Given the description of an element on the screen output the (x, y) to click on. 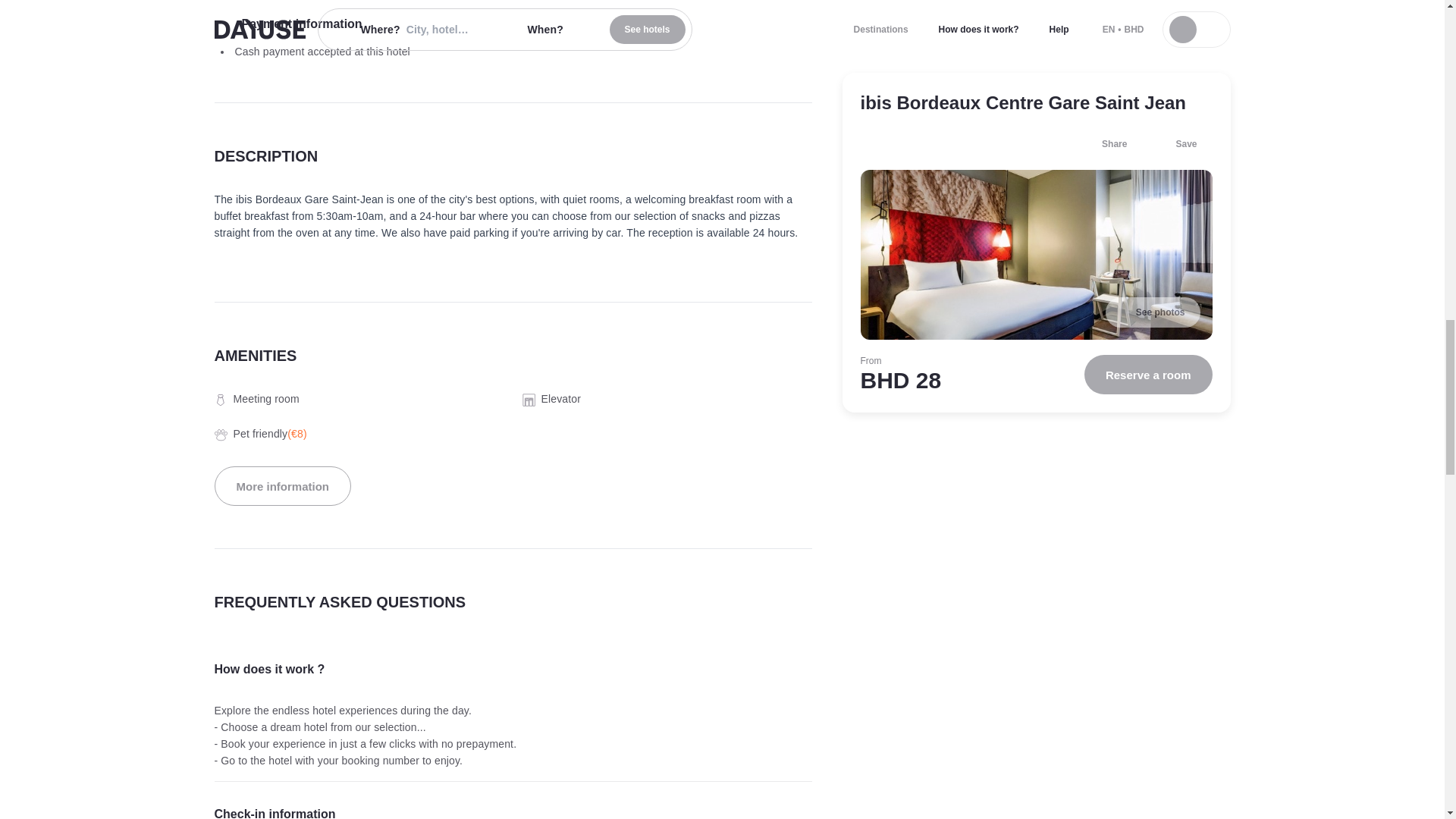
How does it work ? (512, 669)
More information (282, 486)
